Given the description of an element on the screen output the (x, y) to click on. 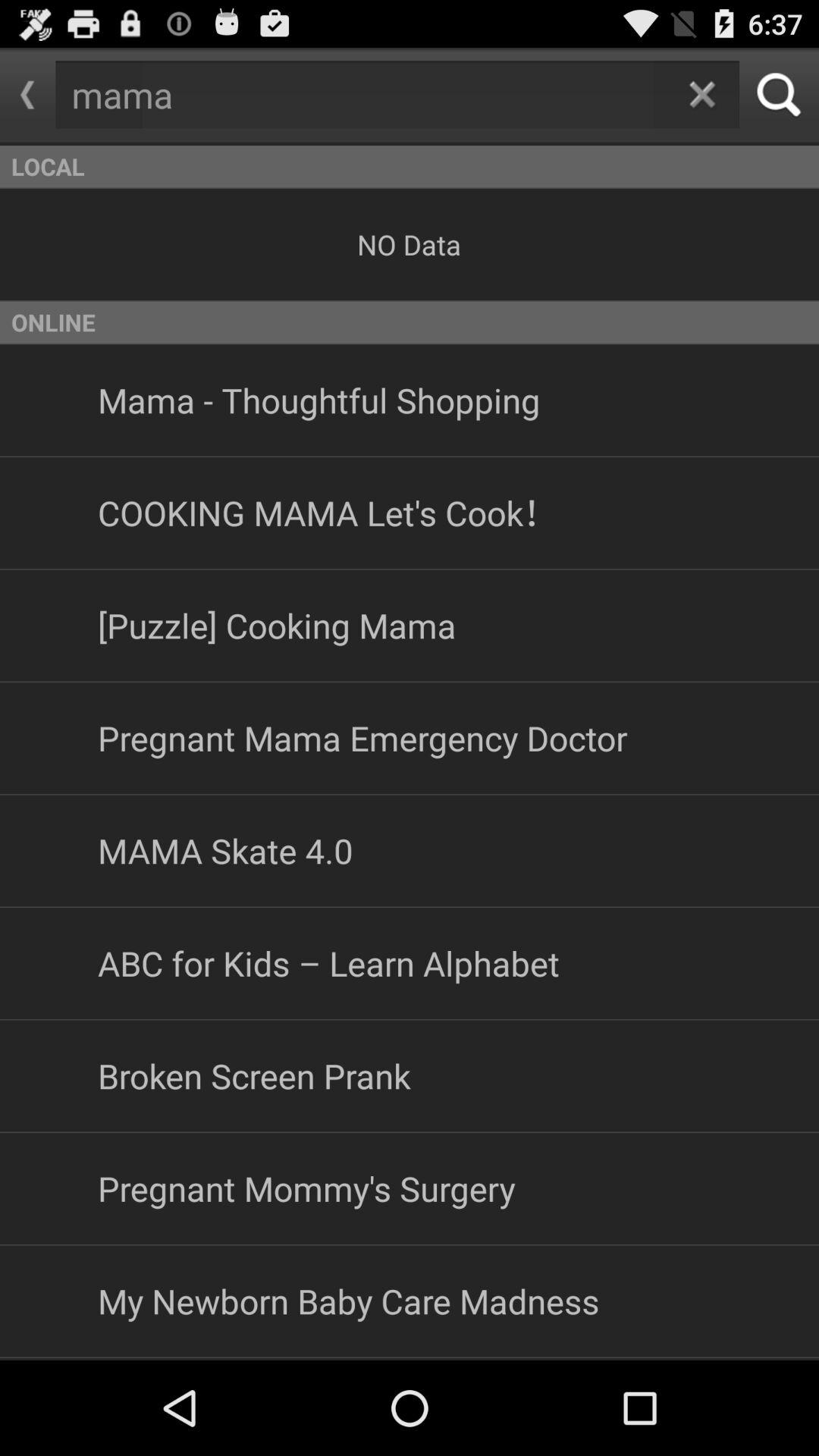
search for results (779, 94)
